Given the description of an element on the screen output the (x, y) to click on. 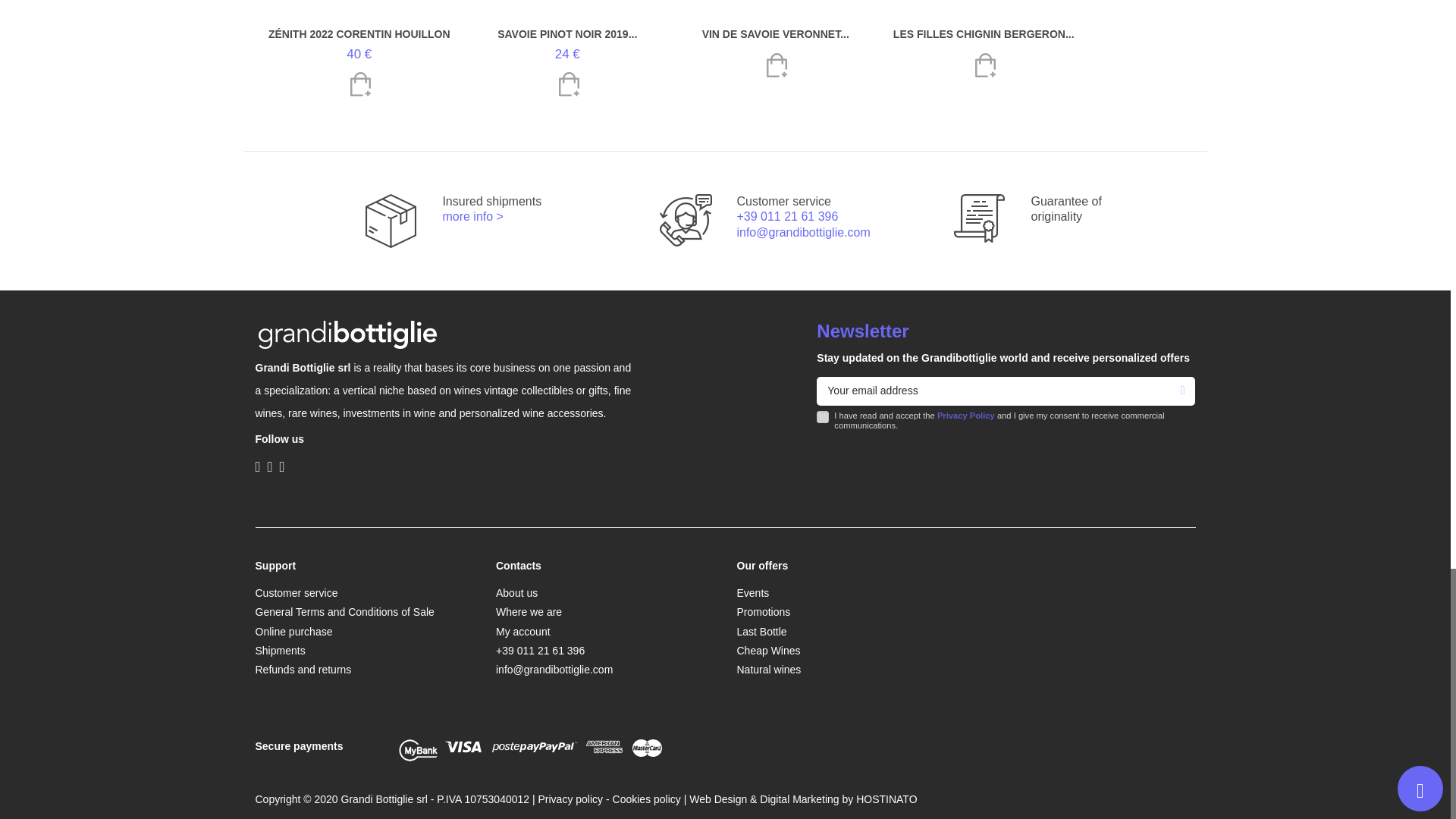
Refunds and returns (302, 670)
About us (516, 593)
Our General Conditions of Sale (343, 612)
